Given the description of an element on the screen output the (x, y) to click on. 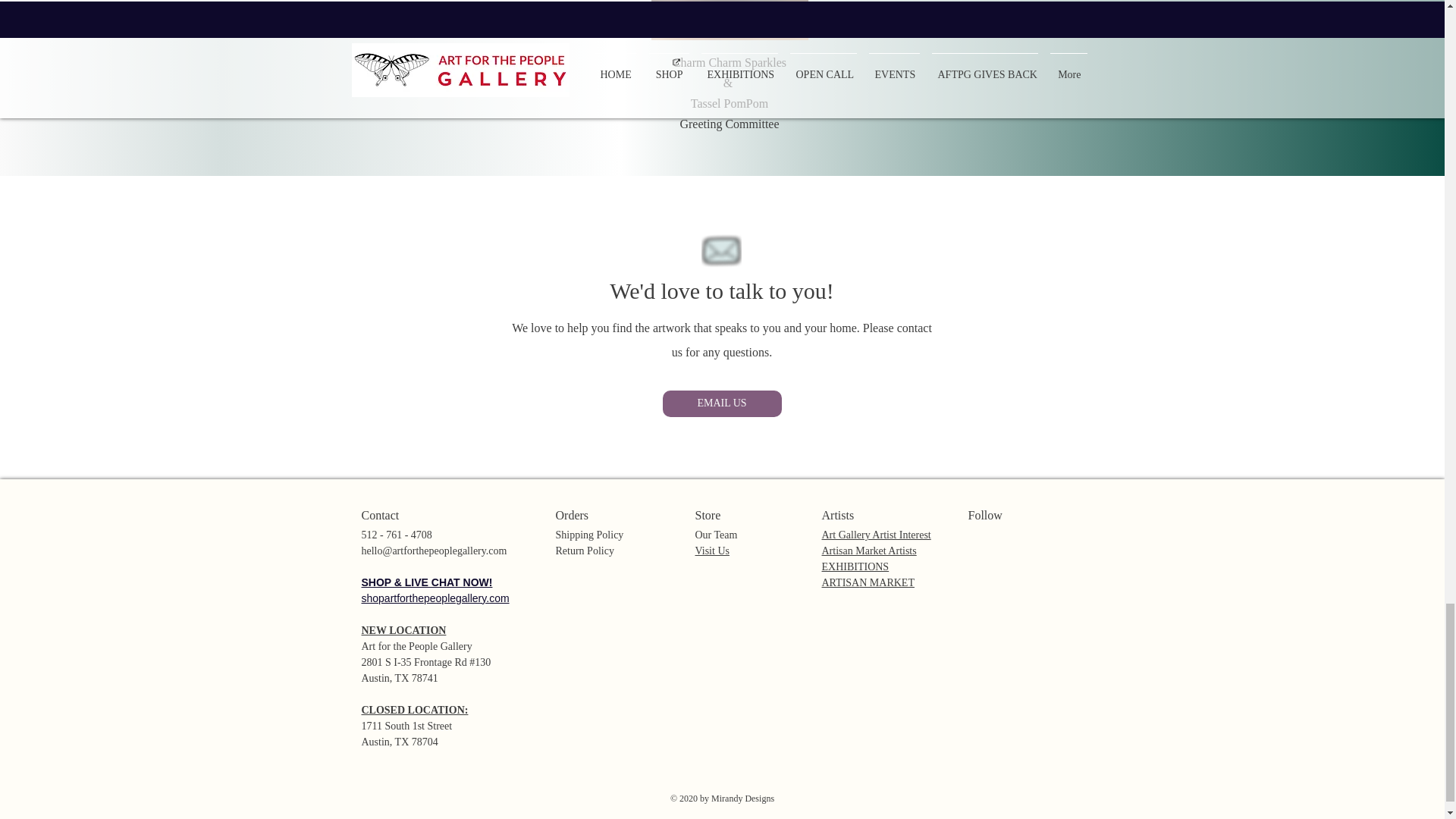
Visit Us (711, 550)
Return Policy (583, 550)
EMAIL US (721, 403)
Art Gallery Artist Interest (876, 534)
ARTISAN MARKET (868, 582)
EXHIBITIONS (855, 566)
Shipping Policy (588, 534)
Our Team (715, 534)
shopartforthepeoplegallery.com (434, 598)
Artisan Market Artists (869, 550)
